Given the description of an element on the screen output the (x, y) to click on. 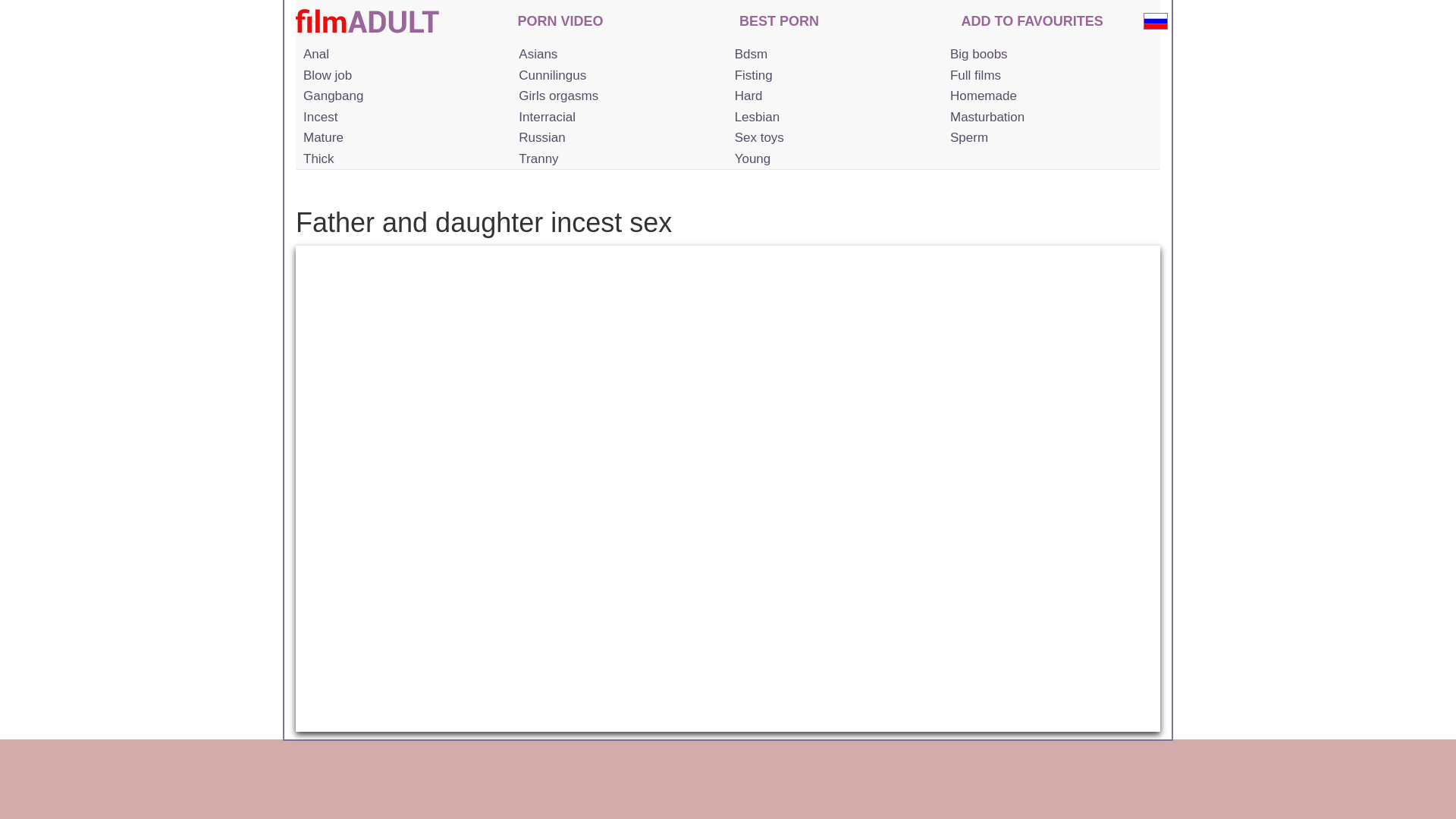
Russian (617, 137)
Anal (401, 54)
Homemade porn and home videos (1048, 96)
Interracial (617, 116)
Interracial porn, sex with blacks (617, 116)
Anal sex porn (401, 54)
Hard (832, 96)
Tranny (617, 158)
Fisting porn (832, 75)
Mature (401, 137)
